Given the description of an element on the screen output the (x, y) to click on. 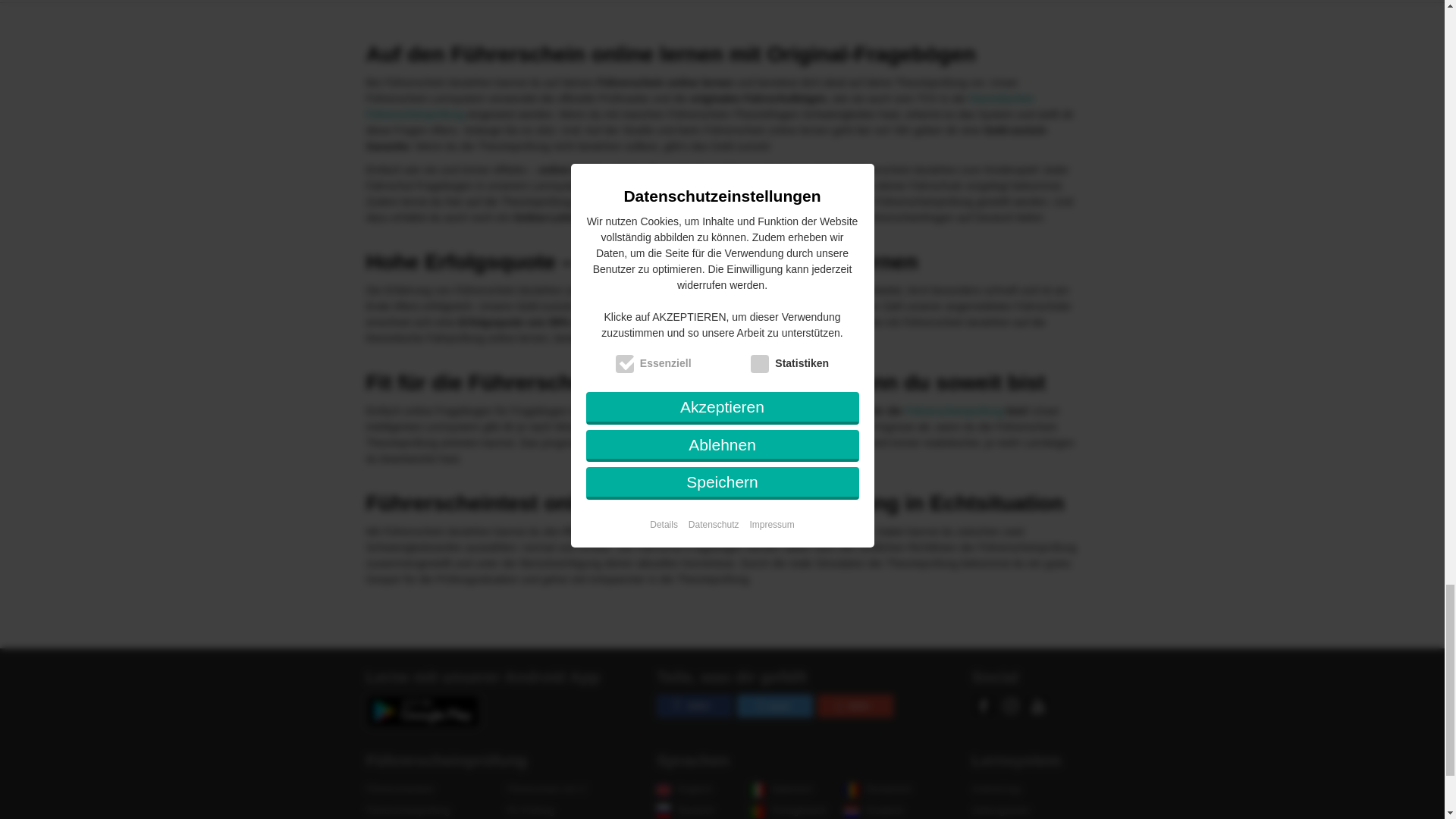
Bei Twitter teilen (774, 705)
Bei Facebook teilen (694, 705)
